Given the description of an element on the screen output the (x, y) to click on. 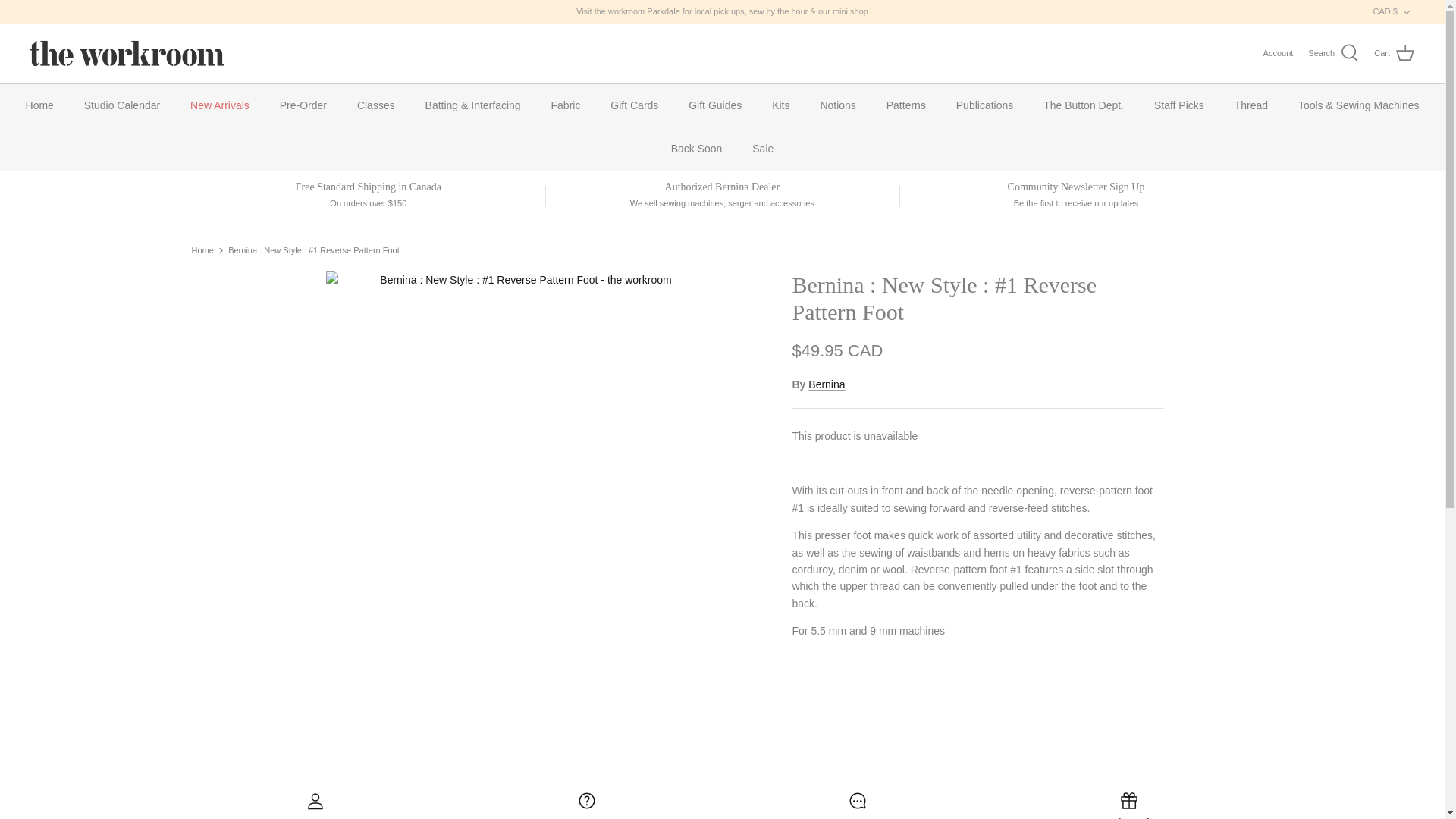
Down (1406, 11)
the workroom (127, 52)
